Given the description of an element on the screen output the (x, y) to click on. 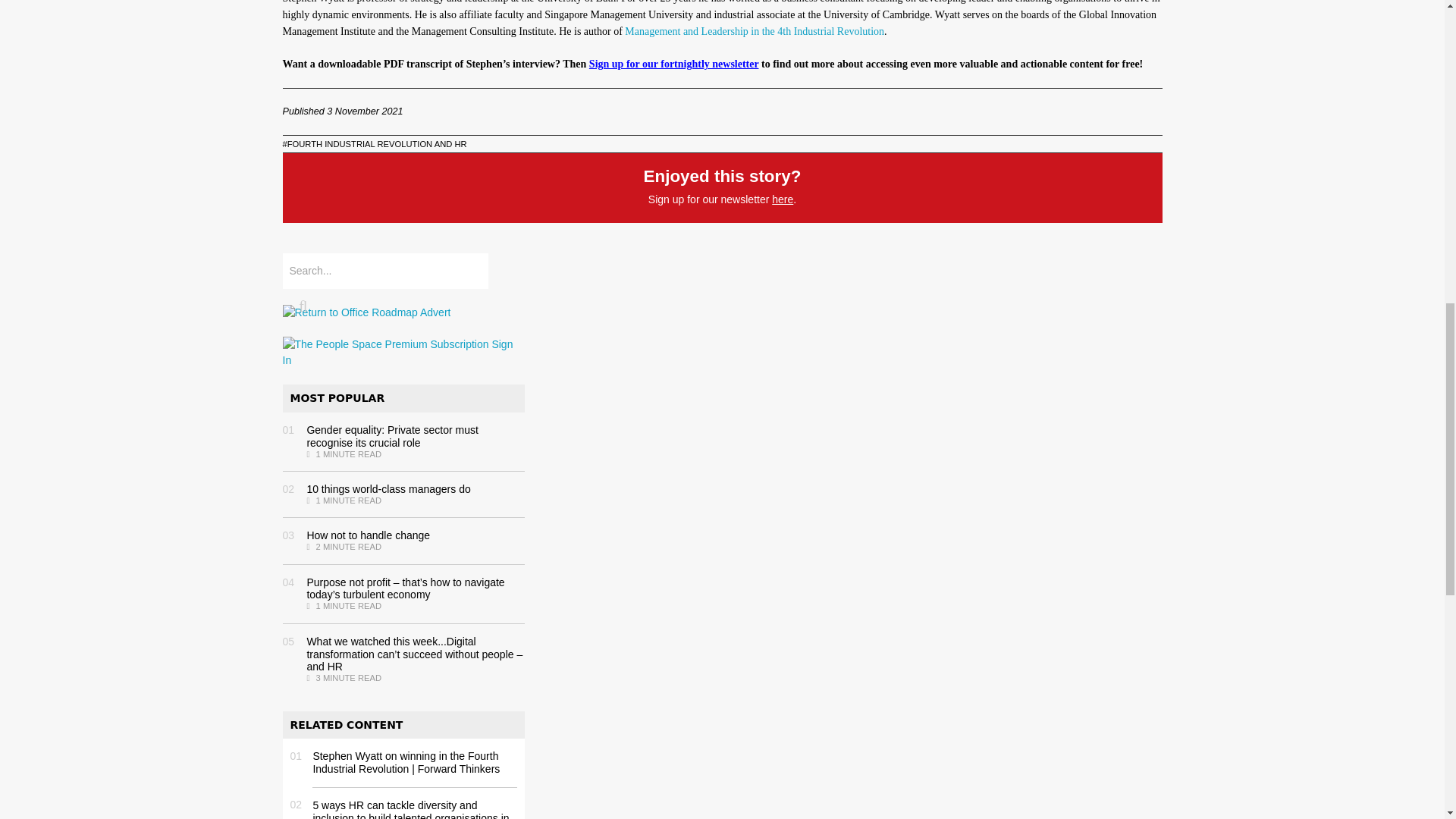
FOURTH INDUSTRIAL REVOLUTION AND HR (373, 143)
Management and Leadership in the 4th Industrial Revolution (753, 30)
Sign up for our fortnightly newsletter (673, 63)
Search keywords (385, 271)
Search (300, 306)
here (782, 199)
